Given the description of an element on the screen output the (x, y) to click on. 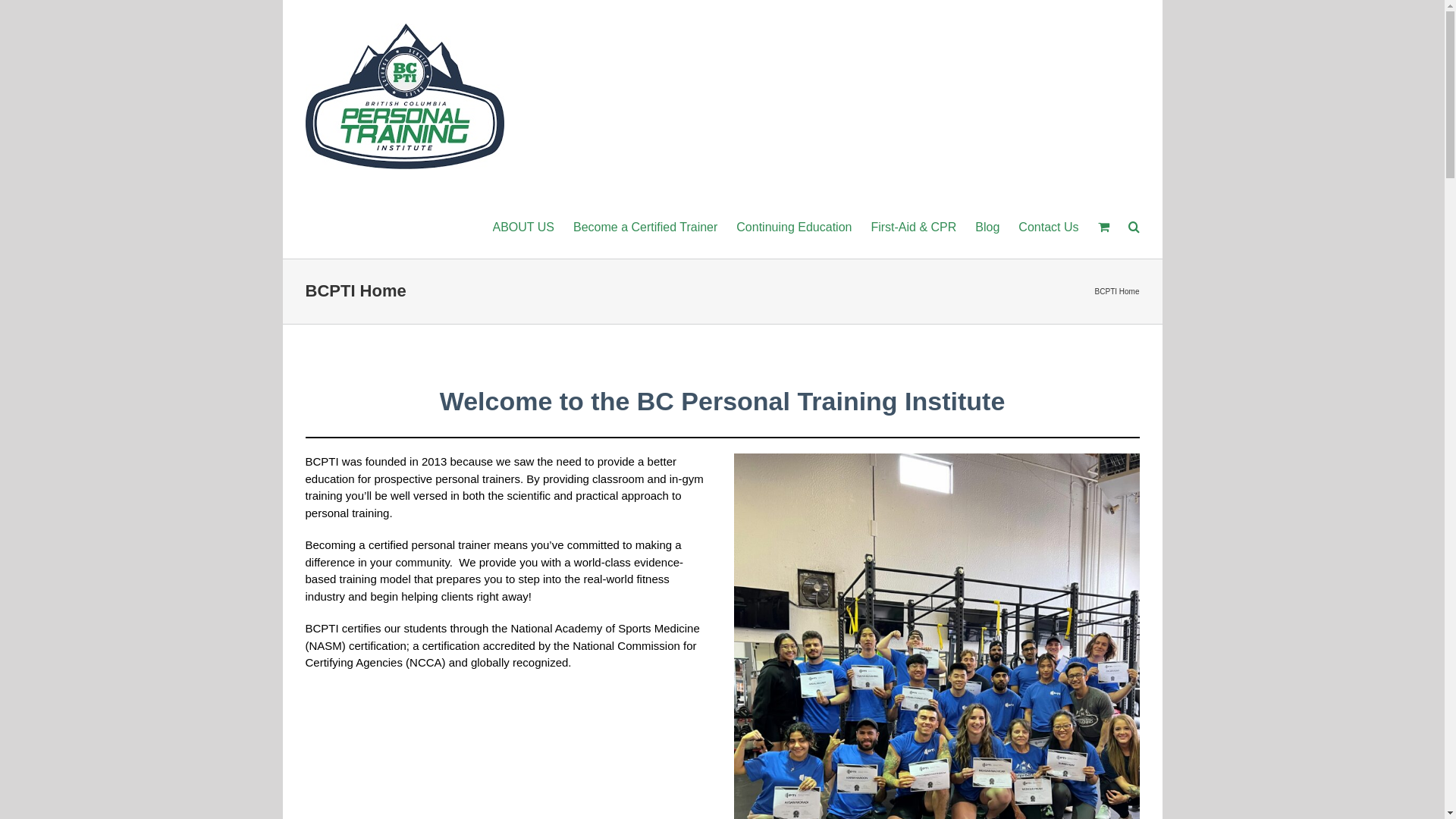
Blog Element type: text (987, 225)
Contact Us Element type: text (1048, 225)
Become a Certified Trainer Element type: text (645, 225)
First-Aid & CPR Element type: text (913, 225)
ABOUT US Element type: text (523, 225)
Continuing Education Element type: text (793, 225)
